Given the description of an element on the screen output the (x, y) to click on. 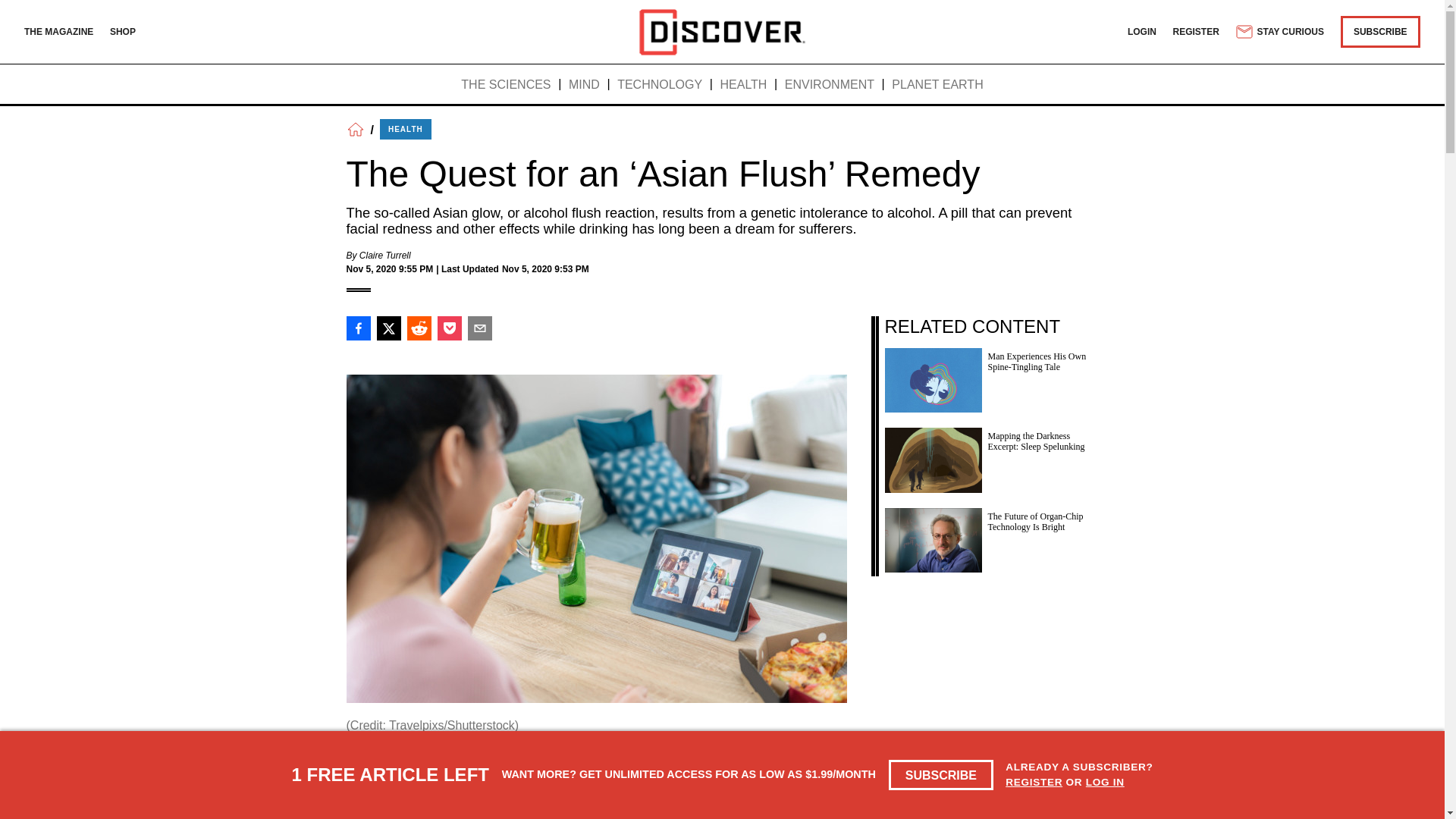
MIND (584, 84)
Claire Turrell (384, 255)
SHOP (122, 31)
SUBSCRIBE (1380, 31)
STAY CURIOUS (1278, 31)
THE SCIENCES (505, 84)
ENVIRONMENT (829, 84)
REGISTER (1196, 31)
LOGIN (1141, 31)
THE MAGAZINE (58, 31)
